Given the description of an element on the screen output the (x, y) to click on. 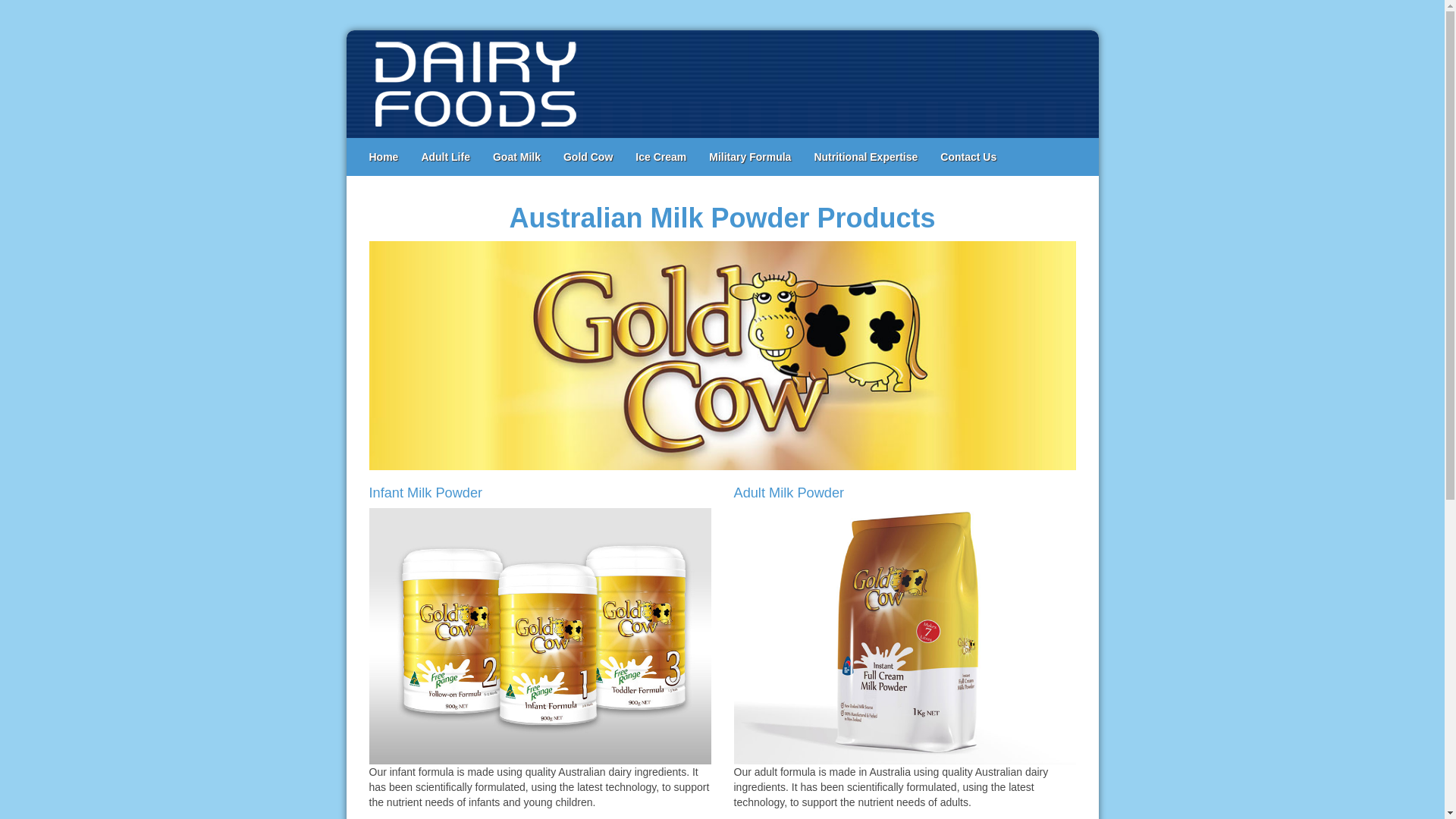
Goat Milk Element type: text (516, 156)
Ice Cream Element type: text (660, 156)
Adult Life Element type: text (445, 156)
Nutritional Expertise Element type: text (865, 156)
Home Element type: text (383, 156)
Gold Cow Element type: text (588, 156)
Contact Us Element type: text (967, 156)
Military Formula Element type: text (749, 156)
